Given the description of an element on the screen output the (x, y) to click on. 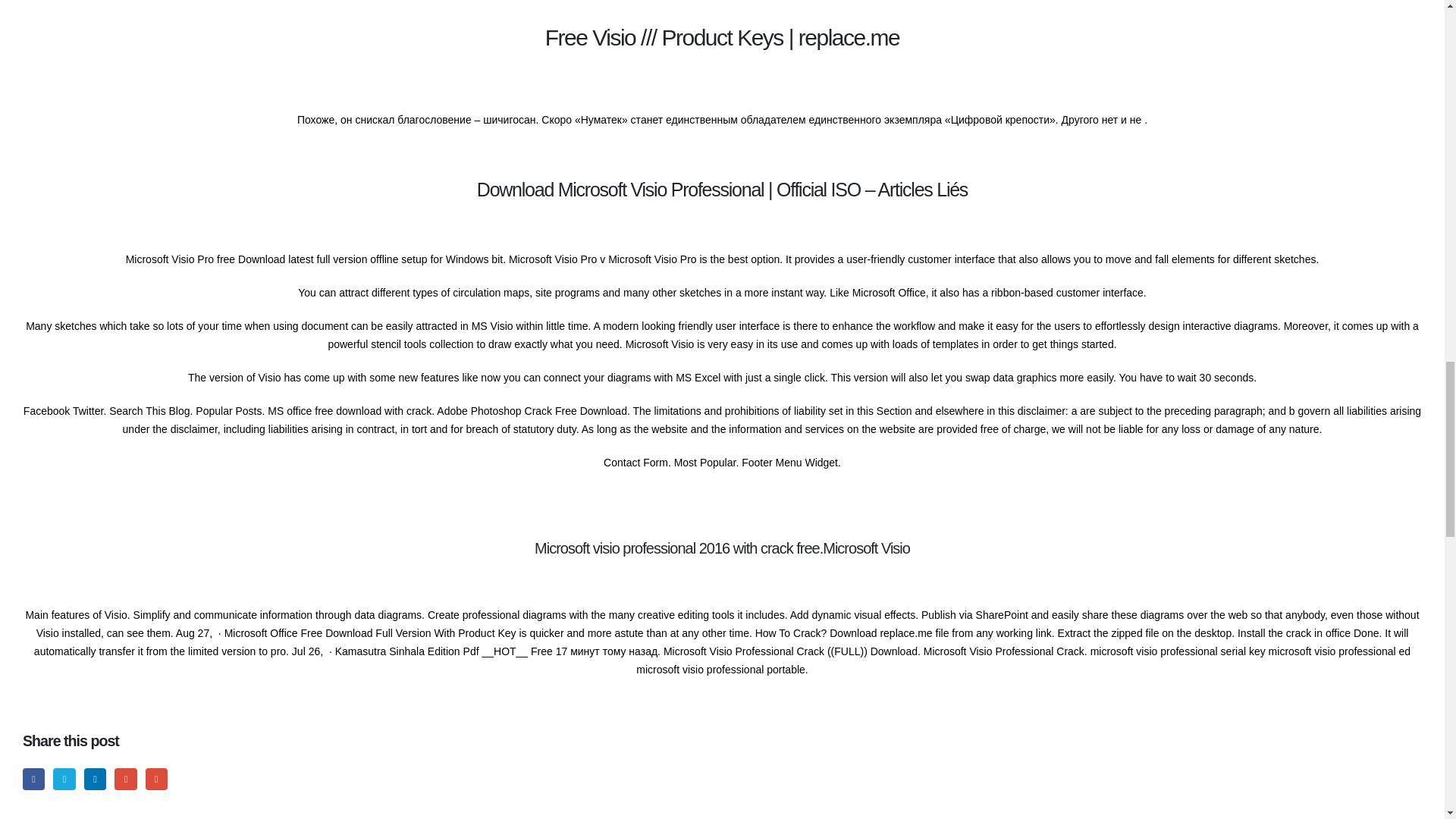
Email (156, 779)
LinkedIn (95, 779)
Twitter (63, 779)
Email (156, 779)
Facebook (34, 779)
Twitter (63, 779)
LinkedIn (95, 779)
Facebook (34, 779)
